Given the description of an element on the screen output the (x, y) to click on. 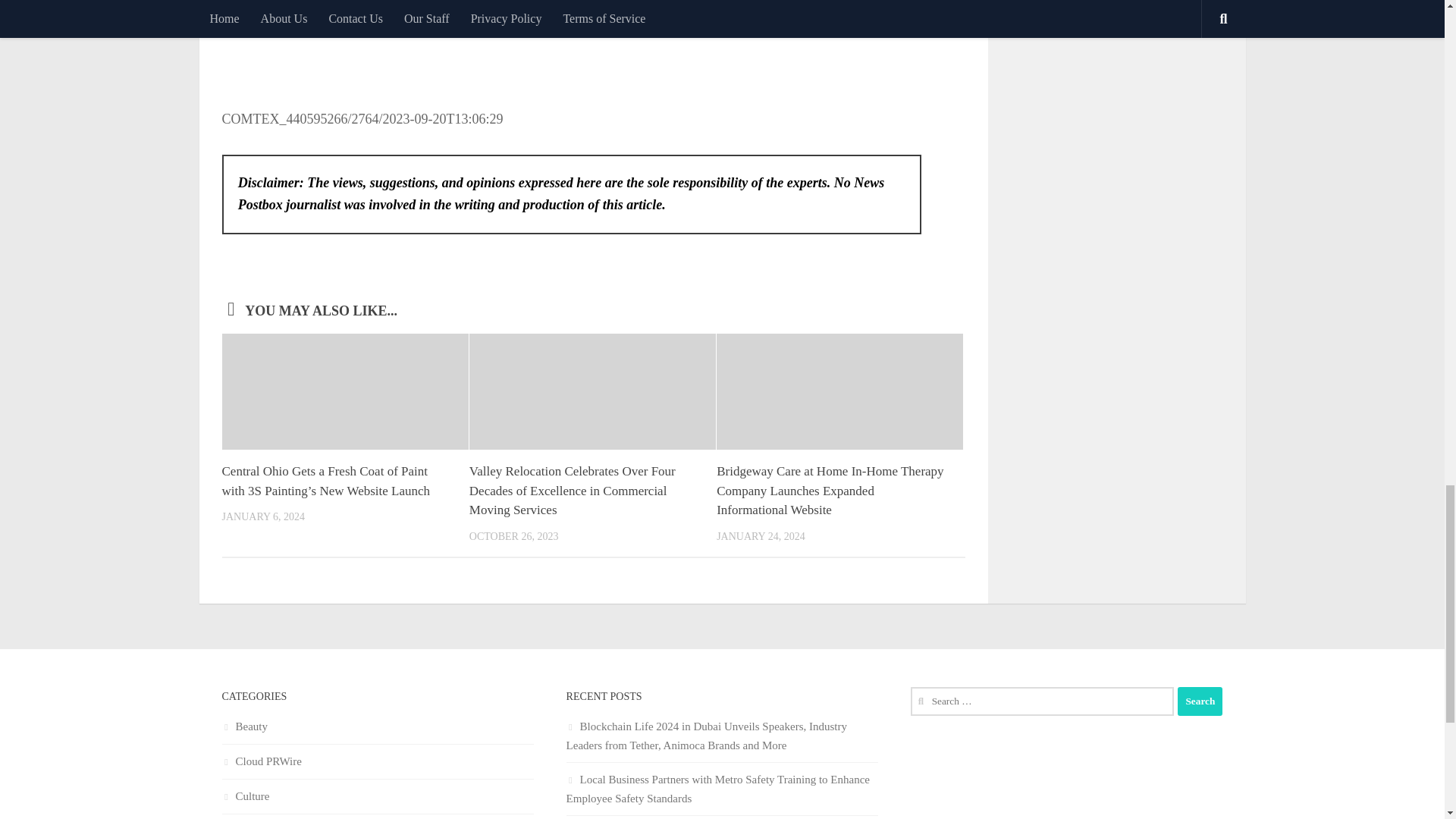
Search (1200, 701)
Search (1200, 701)
